Given the description of an element on the screen output the (x, y) to click on. 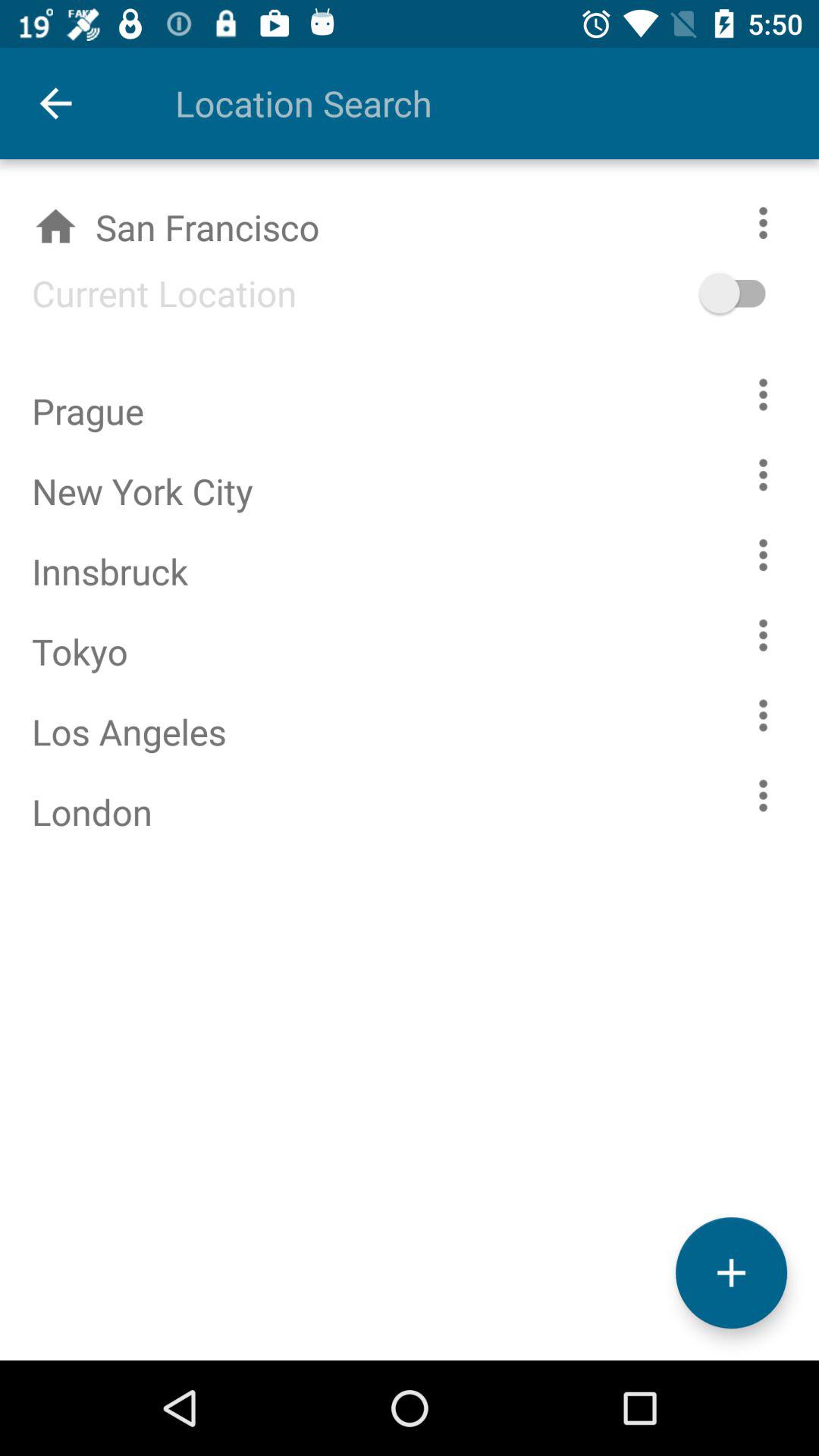
customize location (763, 795)
